Given the description of an element on the screen output the (x, y) to click on. 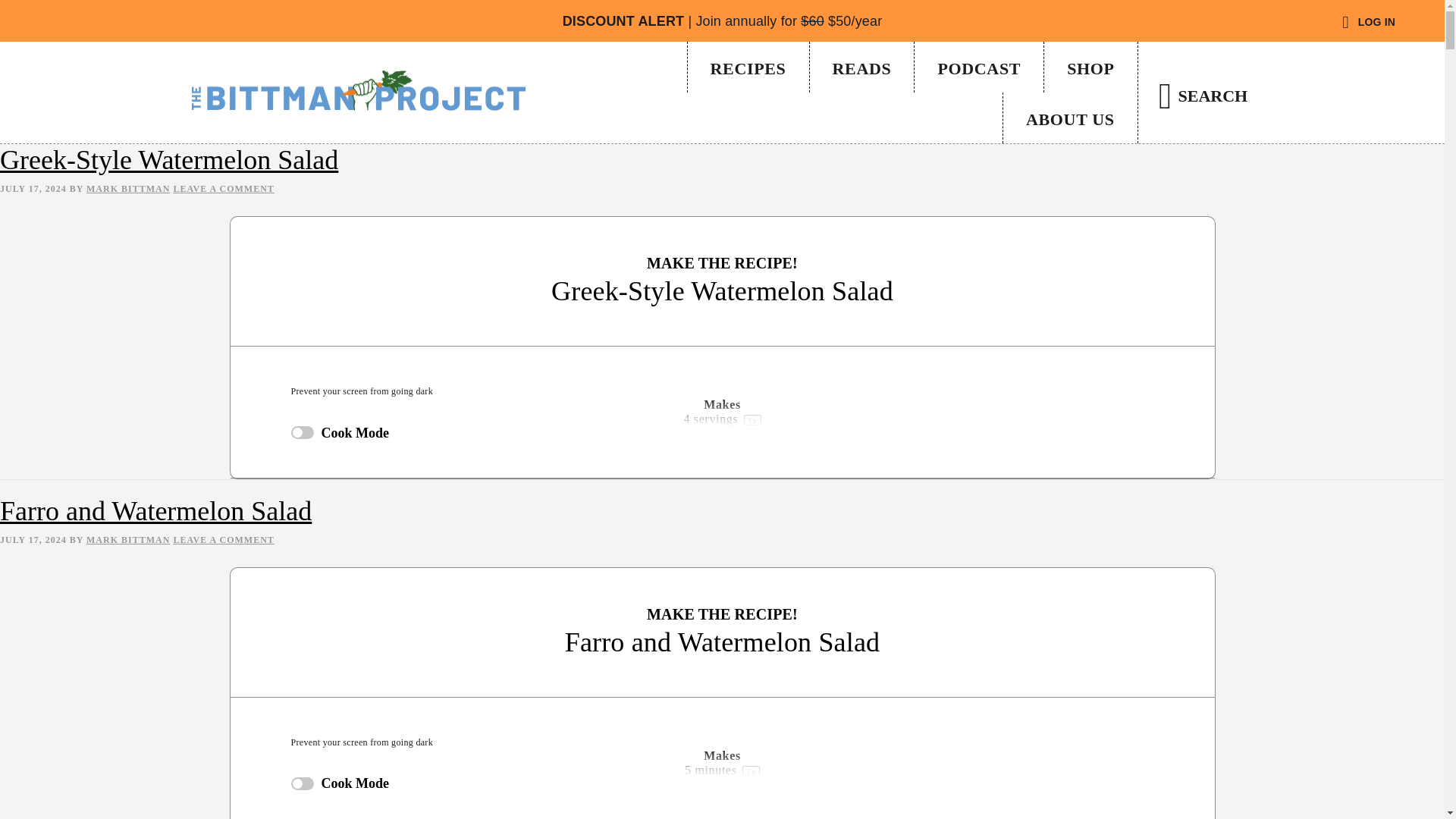
bittman-logo (357, 90)
LOG IN (1368, 22)
RECIPES (748, 66)
